Given the description of an element on the screen output the (x, y) to click on. 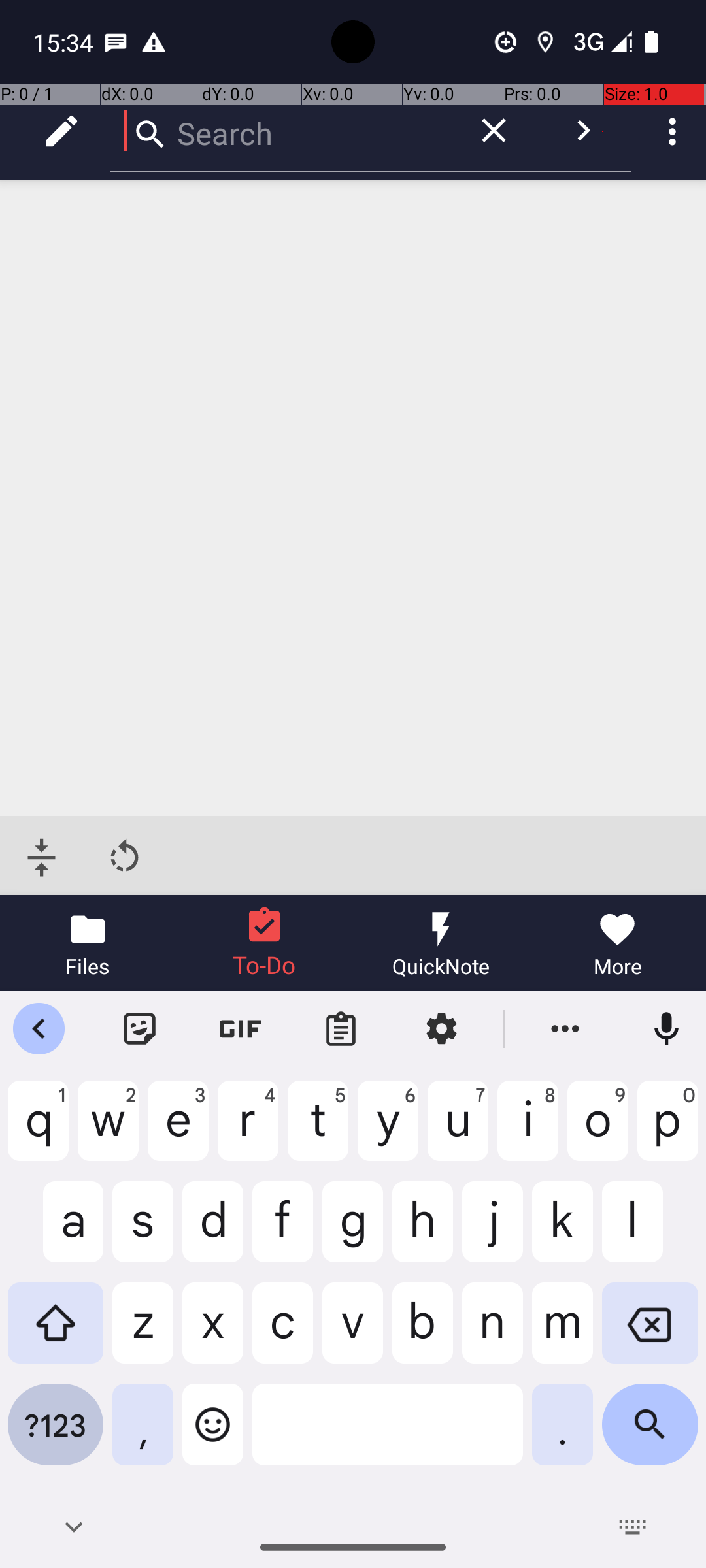
   Search Element type: android.widget.AutoCompleteTextView (280, 130)
Clear query Element type: android.widget.ImageView (493, 130)
Submit query Element type: android.widget.ImageView (583, 130)
